Given the description of an element on the screen output the (x, y) to click on. 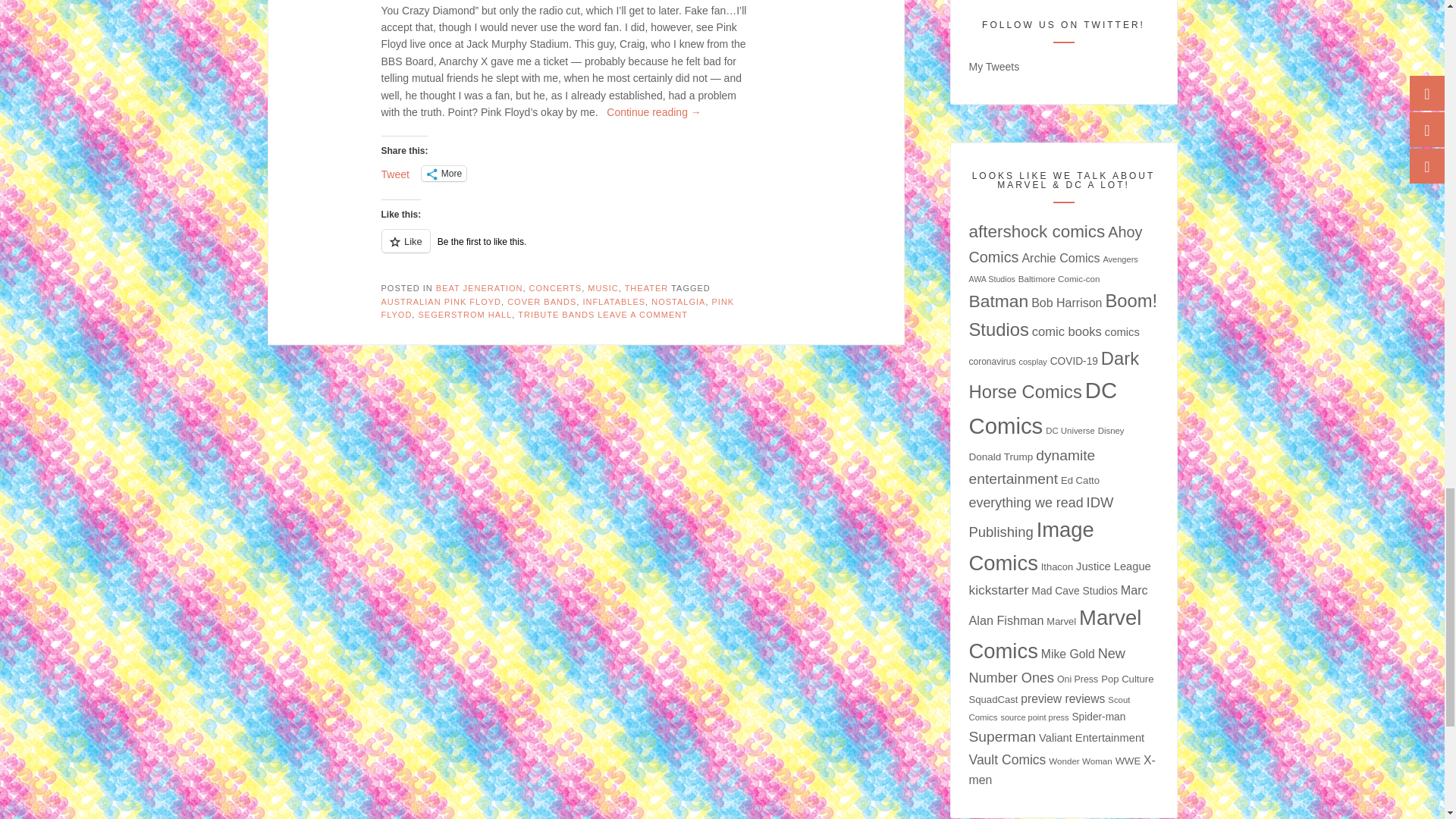
Like or Reblog (568, 250)
